Given the description of an element on the screen output the (x, y) to click on. 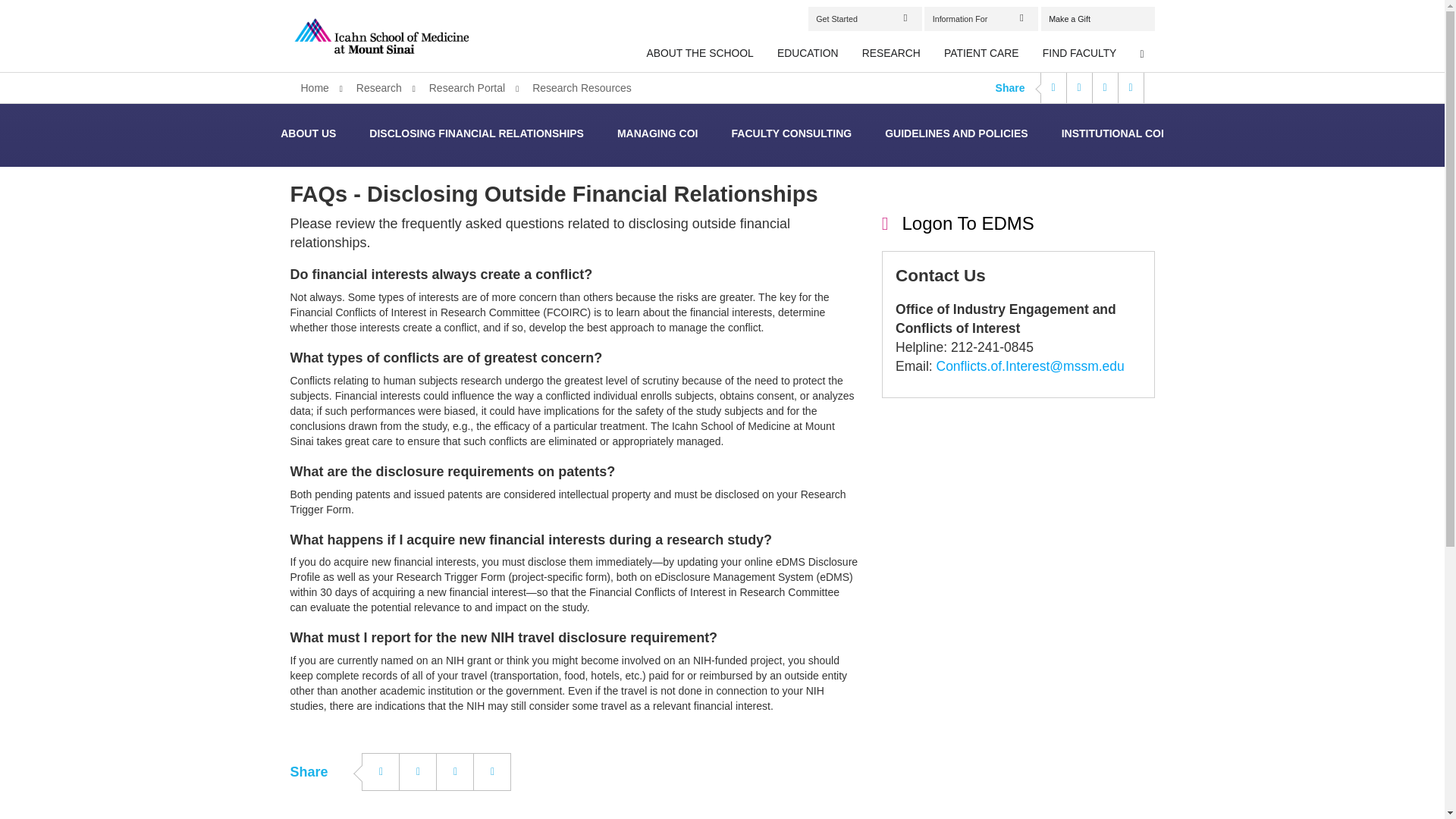
Information For (981, 18)
Get Started (864, 18)
ABOUT THE SCHOOL (700, 54)
Make a Gift (1097, 18)
